Given the description of an element on the screen output the (x, y) to click on. 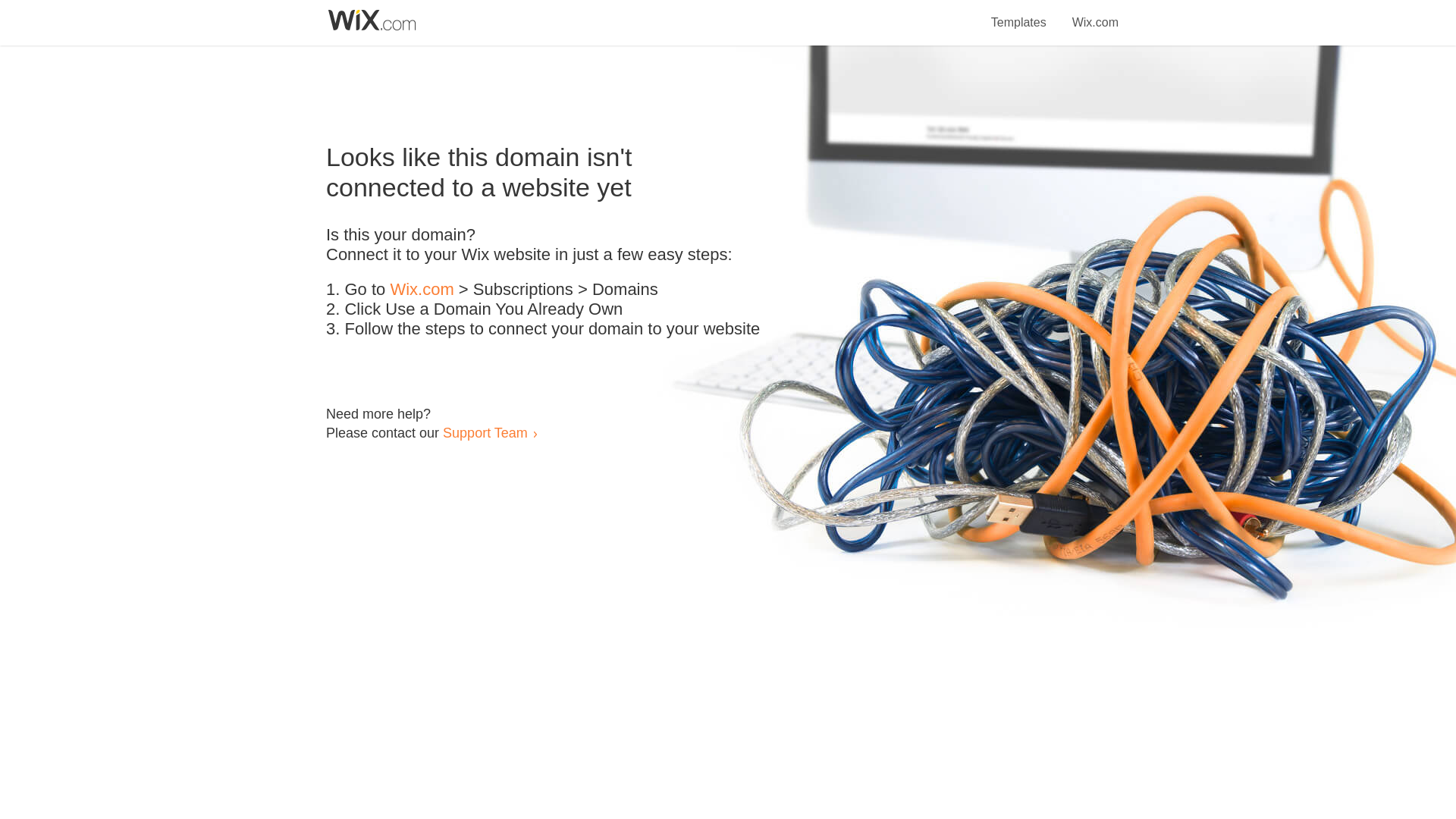
Support Team (484, 432)
Templates (1018, 14)
Wix.com (421, 289)
Wix.com (1095, 14)
